Given the description of an element on the screen output the (x, y) to click on. 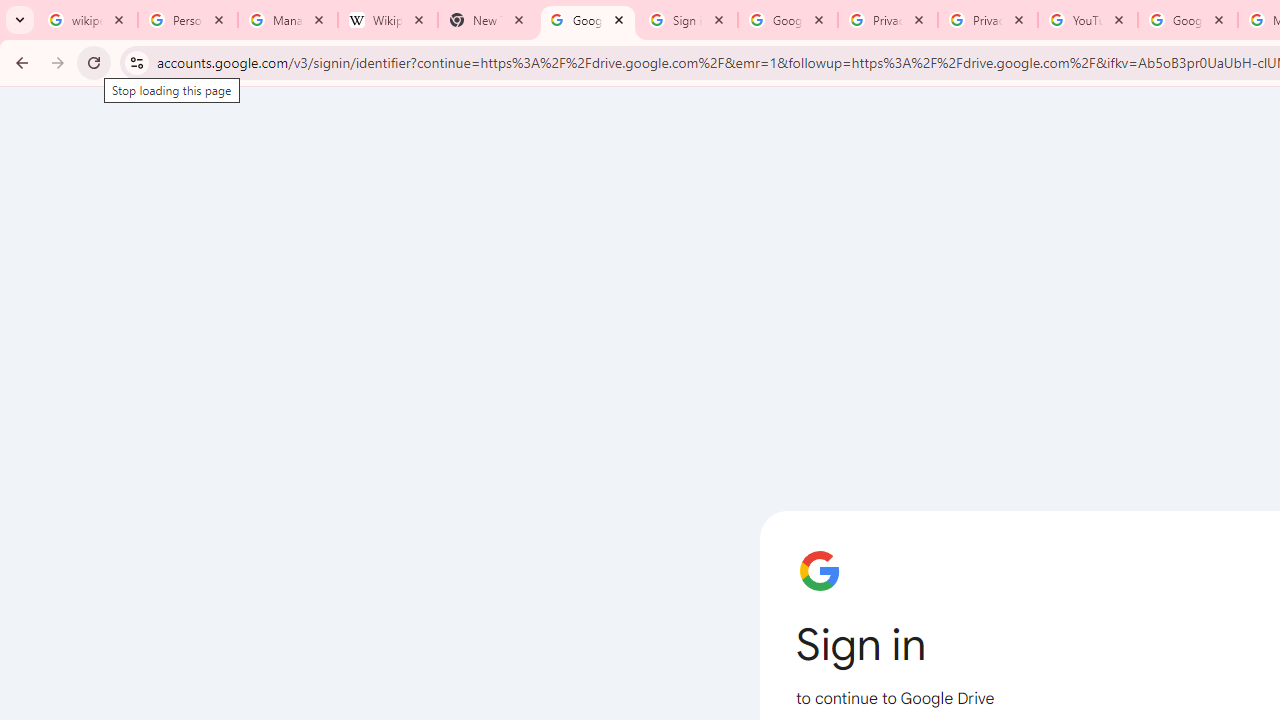
Google Account Help (1187, 20)
Personalization & Google Search results - Google Search Help (188, 20)
Wikipedia:Edit requests - Wikipedia (387, 20)
Sign in - Google Accounts (687, 20)
YouTube (1087, 20)
Google Drive: Sign-in (788, 20)
